Given the description of an element on the screen output the (x, y) to click on. 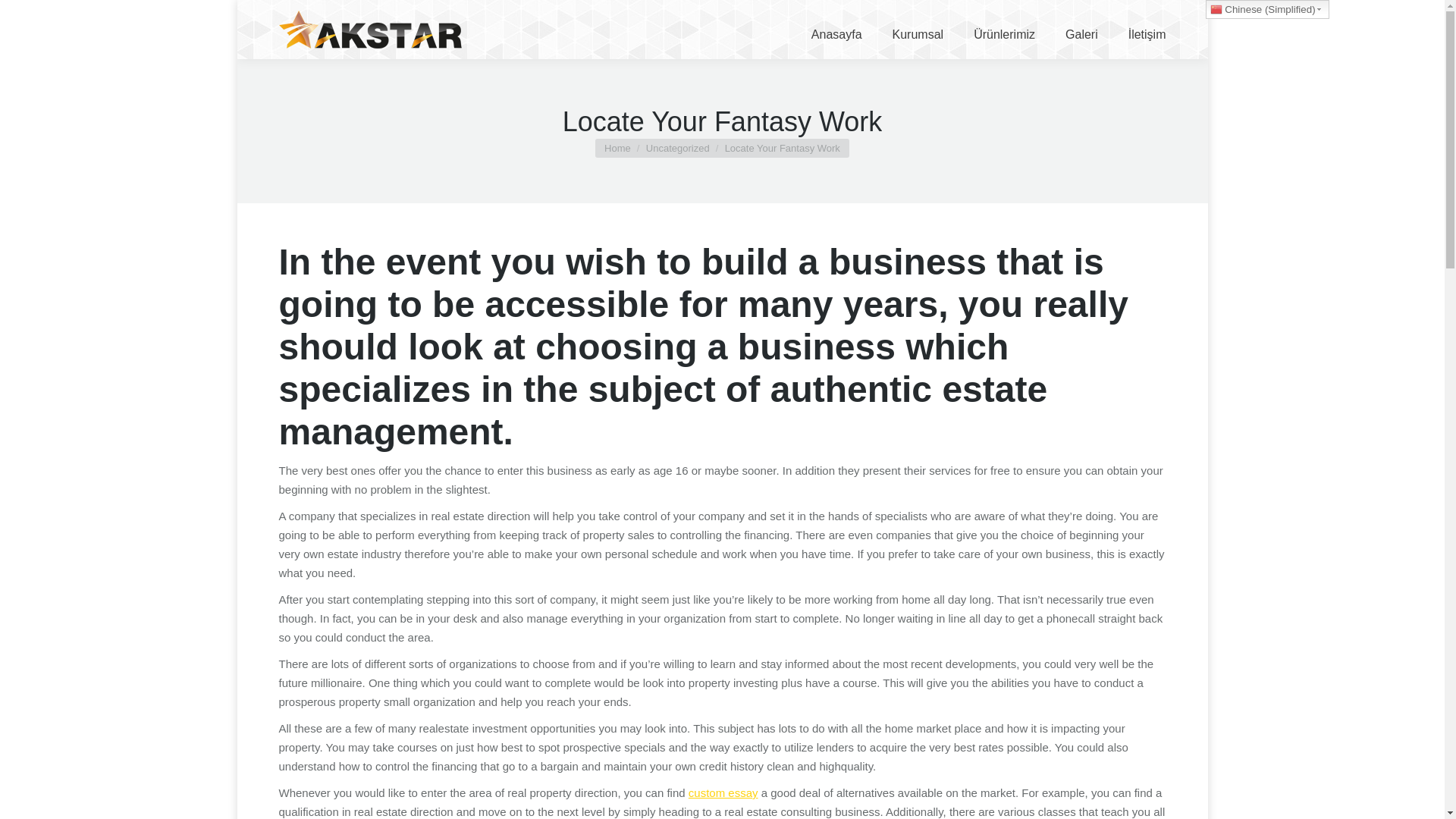
custom essay (723, 792)
Galeri (1081, 29)
Uncategorized (678, 147)
Kurumsal (917, 29)
Home (617, 147)
Anasayfa (835, 29)
